Given the description of an element on the screen output the (x, y) to click on. 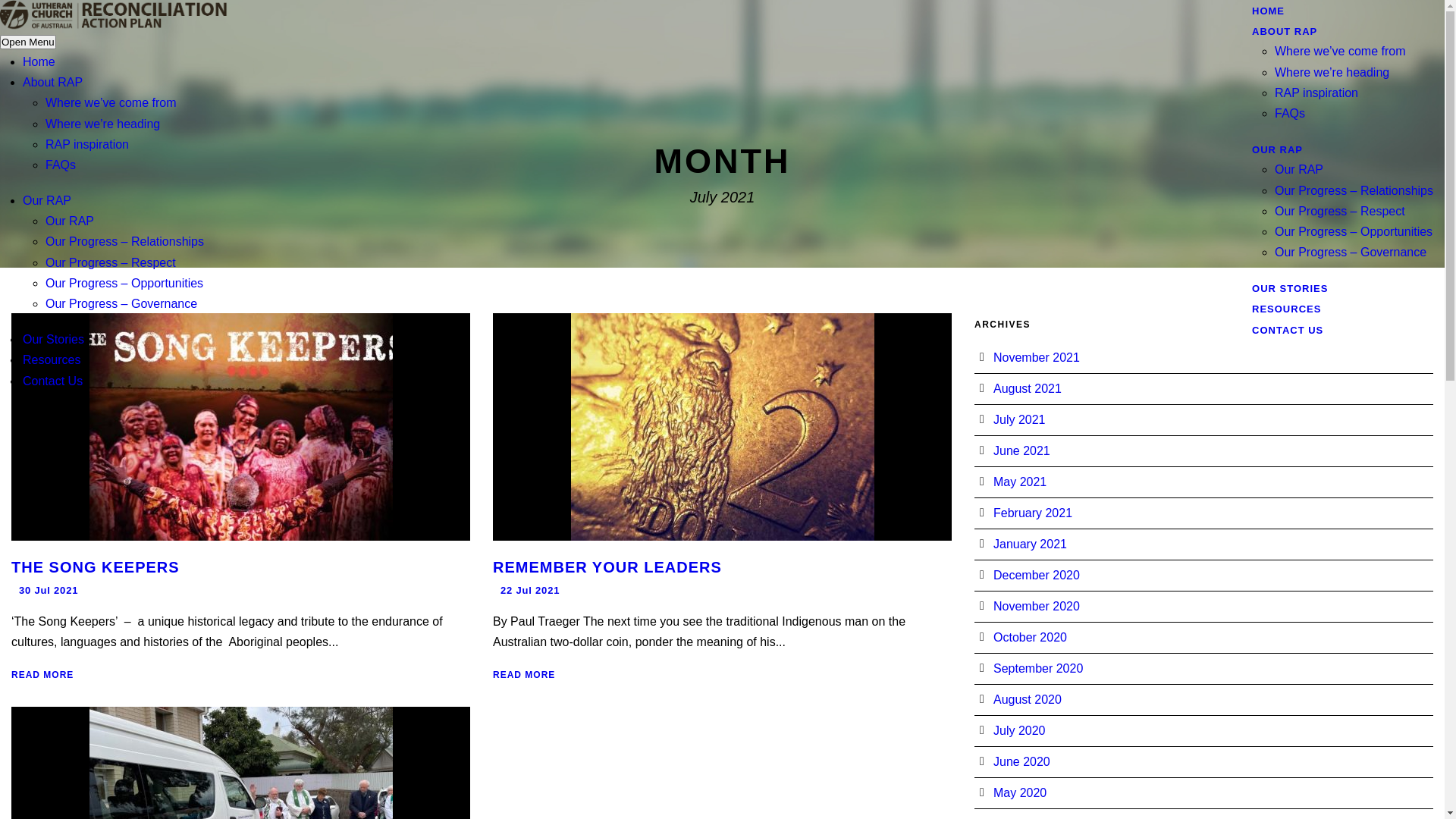
OUR RAP Element type: text (1287, 166)
November 2021 Element type: text (1036, 357)
October 2020 Element type: text (1029, 636)
Contact Us Element type: text (52, 380)
HOME Element type: text (1280, 27)
Our RAP Element type: text (1298, 169)
CONTACT US Element type: text (1287, 347)
Resources Element type: text (51, 359)
May 2020 Element type: text (1019, 792)
July 2020 Element type: text (1019, 730)
22 Jul 2021 Element type: text (529, 590)
RAP inspiration Element type: text (1316, 92)
Our RAP Element type: text (46, 200)
December 2020 Element type: text (1036, 574)
30 Jul 2021 Element type: text (48, 590)
FAQs Element type: text (1289, 112)
Home Element type: text (38, 61)
ABOUT RAP Element type: text (1294, 48)
REMEMBER YOUR LEADERS Element type: text (606, 566)
Our RAP Element type: text (69, 220)
July 2021 Element type: text (1019, 419)
Open Menu Element type: text (28, 41)
THE SONG KEEPERS Element type: text (95, 566)
About RAP Element type: text (52, 81)
May 2021 Element type: text (1019, 481)
FAQs Element type: text (60, 164)
August 2021 Element type: text (1027, 388)
Our Stories Element type: text (53, 338)
READ MORE Element type: text (42, 674)
June 2021 Element type: text (1021, 450)
August 2020 Element type: text (1027, 699)
RAP inspiration Element type: text (86, 144)
January 2021 Element type: text (1029, 543)
READ MORE Element type: text (523, 674)
June 2020 Element type: text (1021, 761)
OUR STORIES Element type: text (1302, 305)
November 2020 Element type: text (1036, 605)
September 2020 Element type: text (1037, 668)
February 2021 Element type: text (1032, 512)
RESOURCES Element type: text (1299, 325)
